Given the description of an element on the screen output the (x, y) to click on. 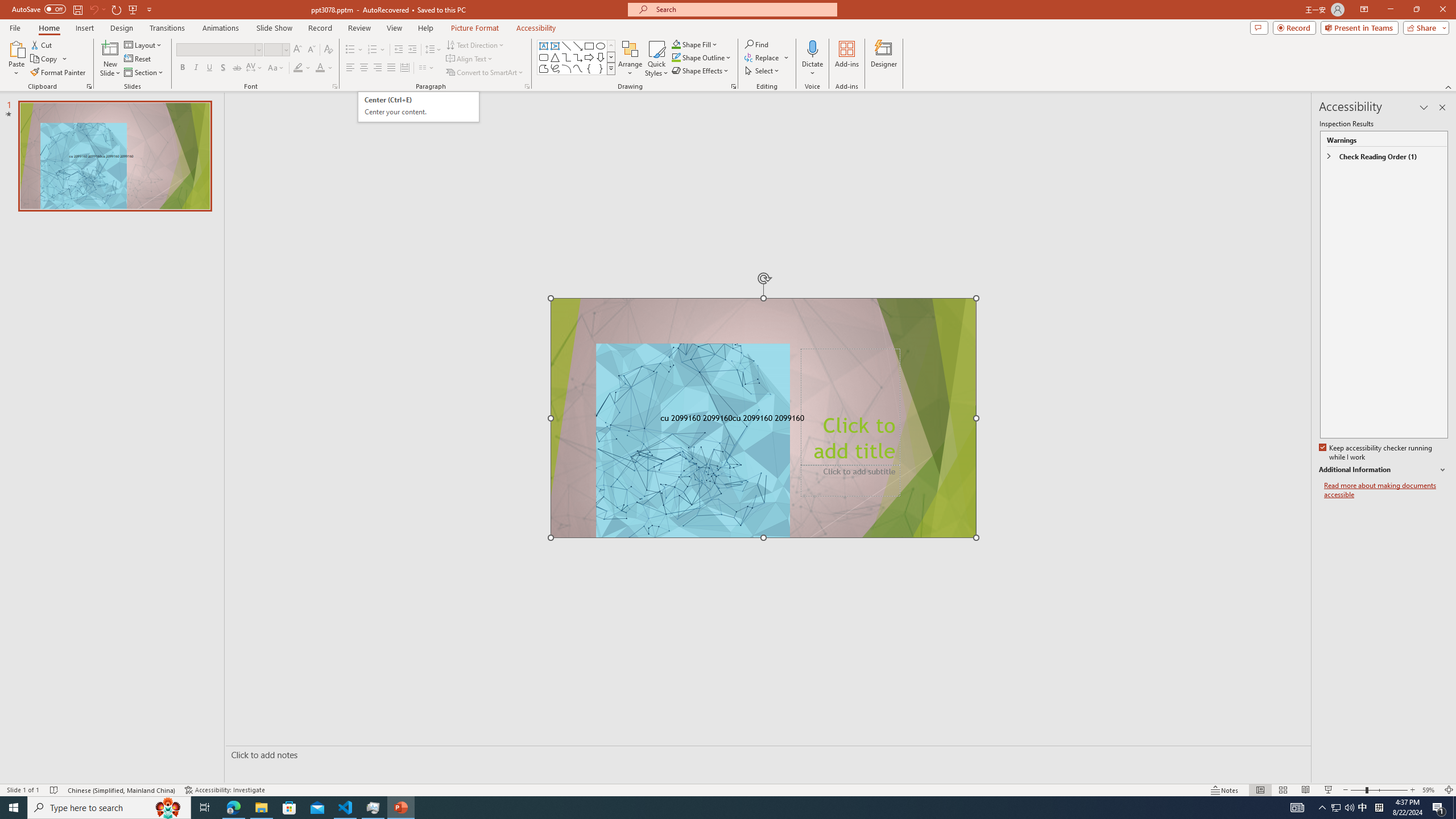
Shape Outline Green, Accent 1 (675, 56)
